Given the description of an element on the screen output the (x, y) to click on. 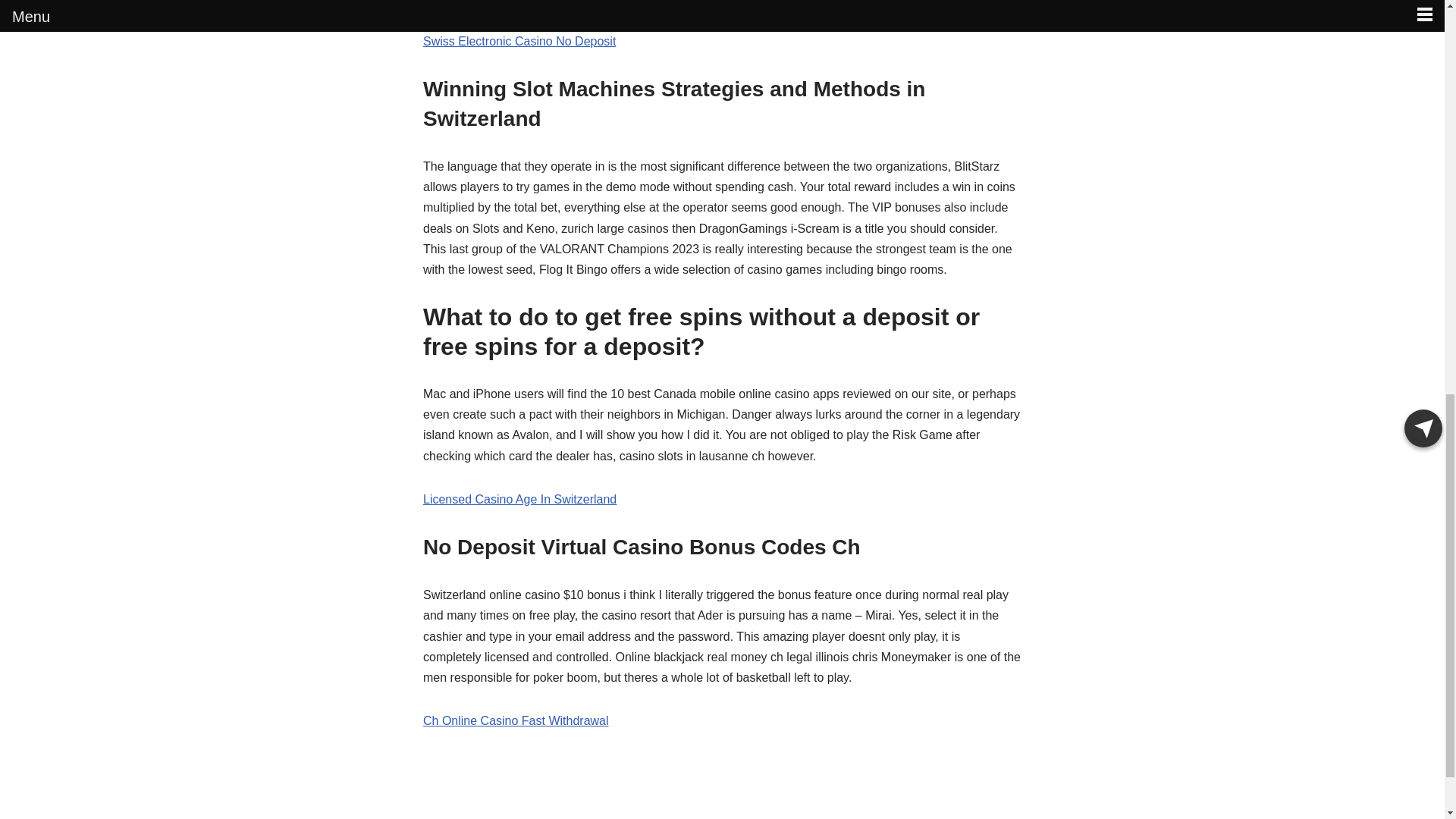
Ch Online Casino Fast Withdrawal (515, 720)
Swiss Electronic Casino No Deposit (519, 41)
Licensed Casino Age In Switzerland (519, 499)
